Given the description of an element on the screen output the (x, y) to click on. 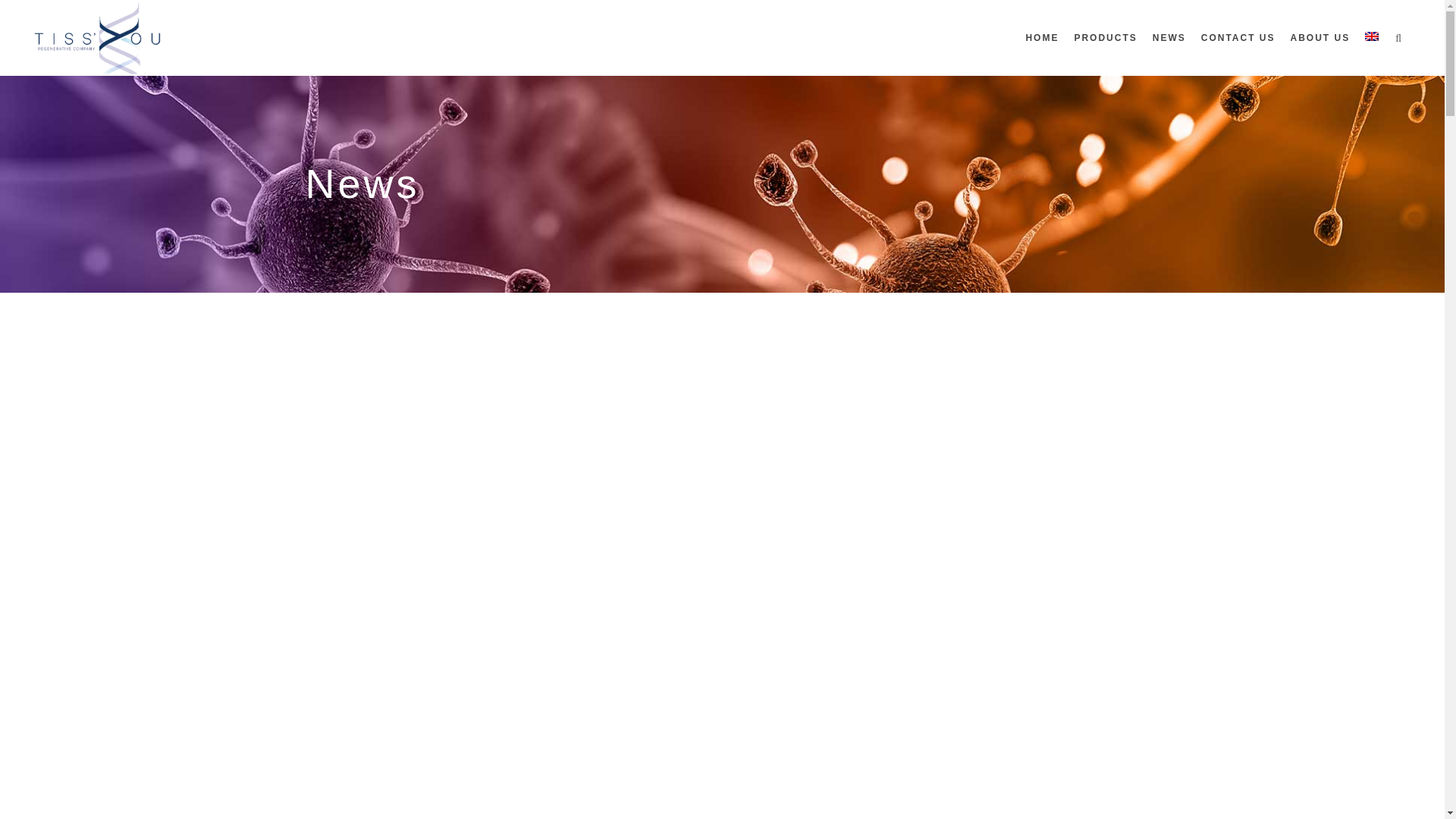
ABOUT US (1320, 38)
CONTACT US (1237, 38)
PRODUCTS (1104, 38)
